Given the description of an element on the screen output the (x, y) to click on. 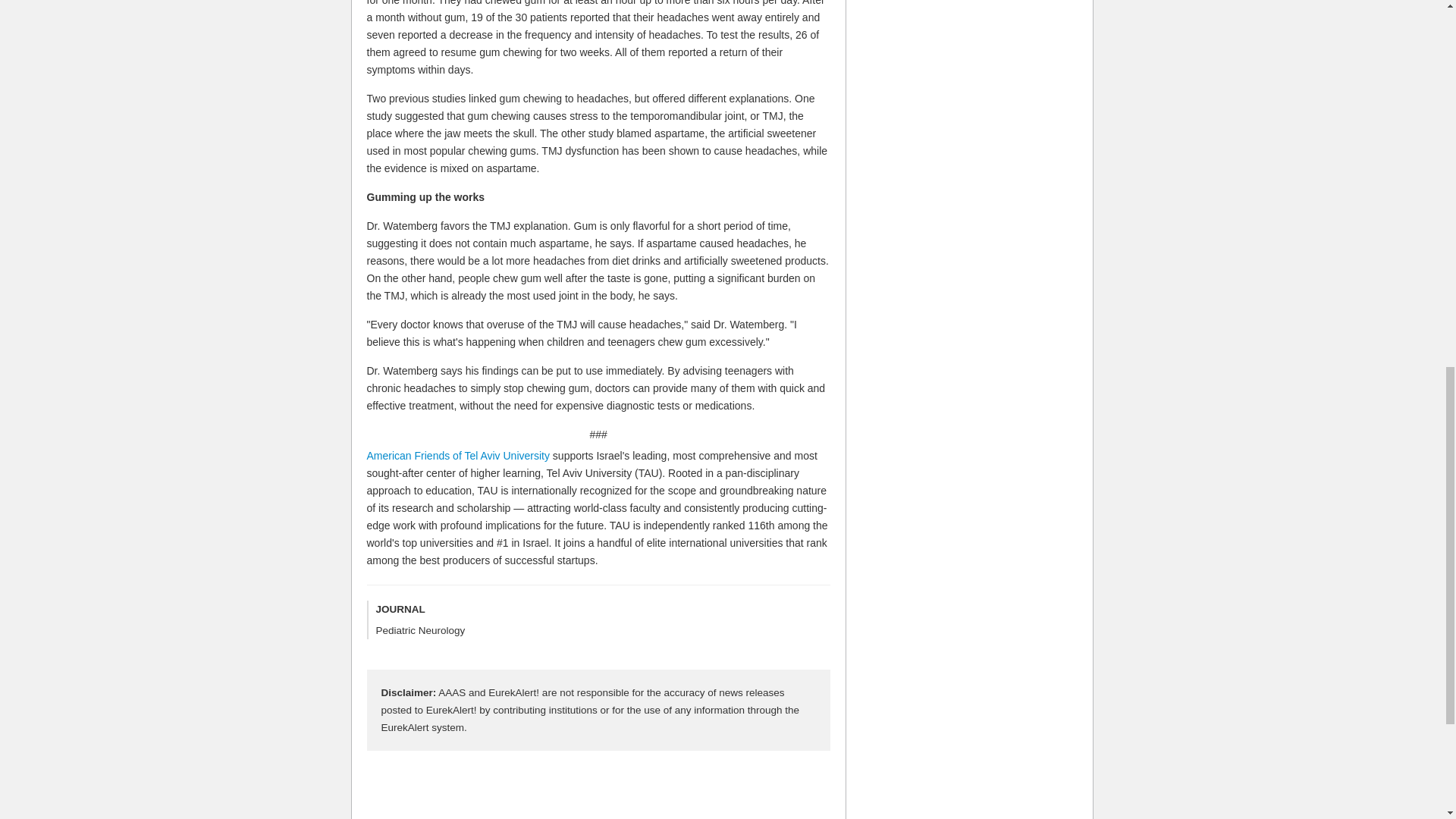
American Friends of Tel Aviv University (458, 455)
